Given the description of an element on the screen output the (x, y) to click on. 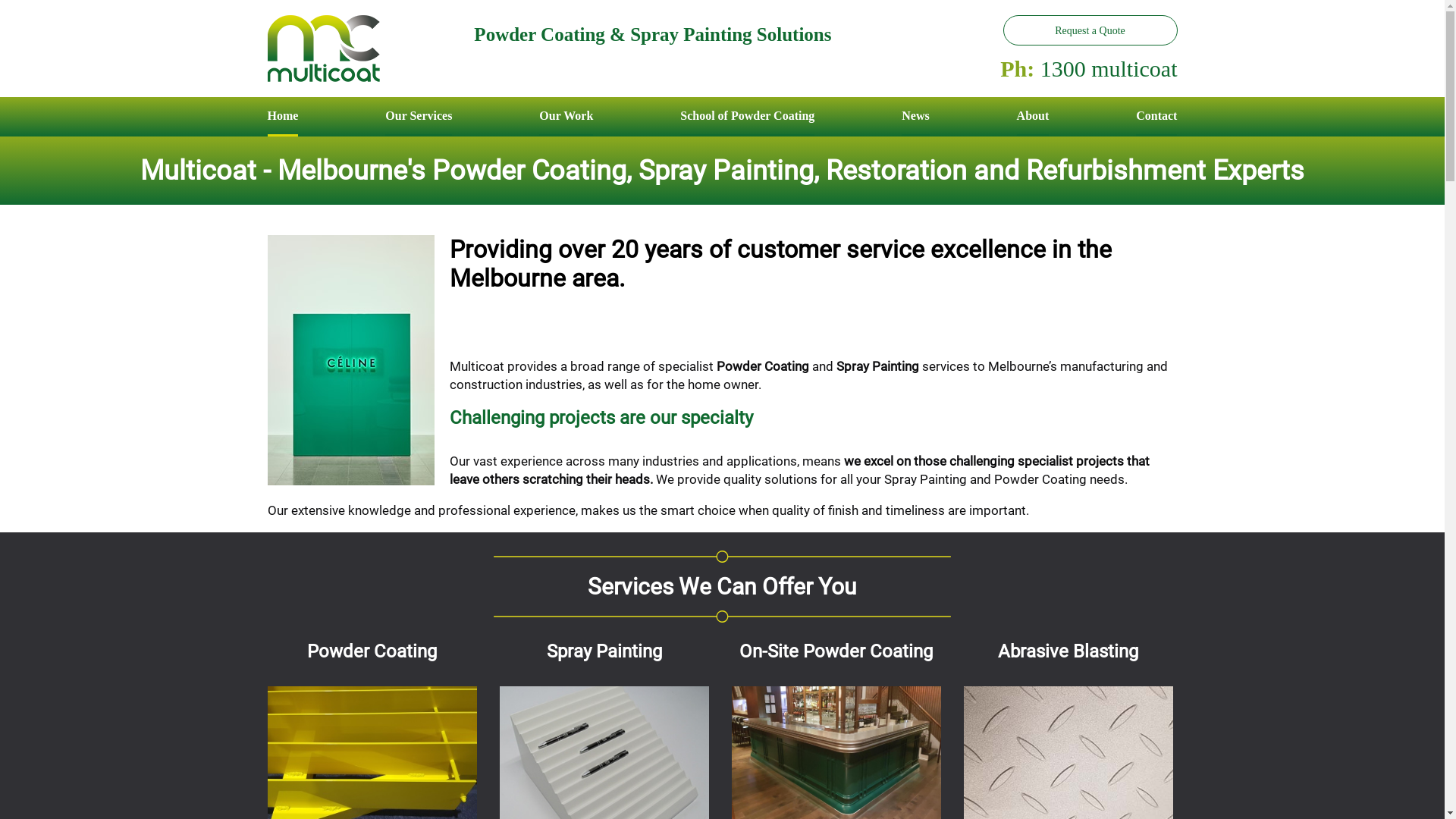
News Element type: text (914, 118)
Request a Quote Element type: text (1089, 30)
Our Work Element type: text (566, 118)
Our Services Element type: text (418, 118)
About Element type: text (1032, 118)
Home Element type: text (282, 118)
1300 multicoat Element type: text (1108, 68)
Contact Element type: text (1155, 118)
School of Powder Coating Element type: text (747, 118)
